Given the description of an element on the screen output the (x, y) to click on. 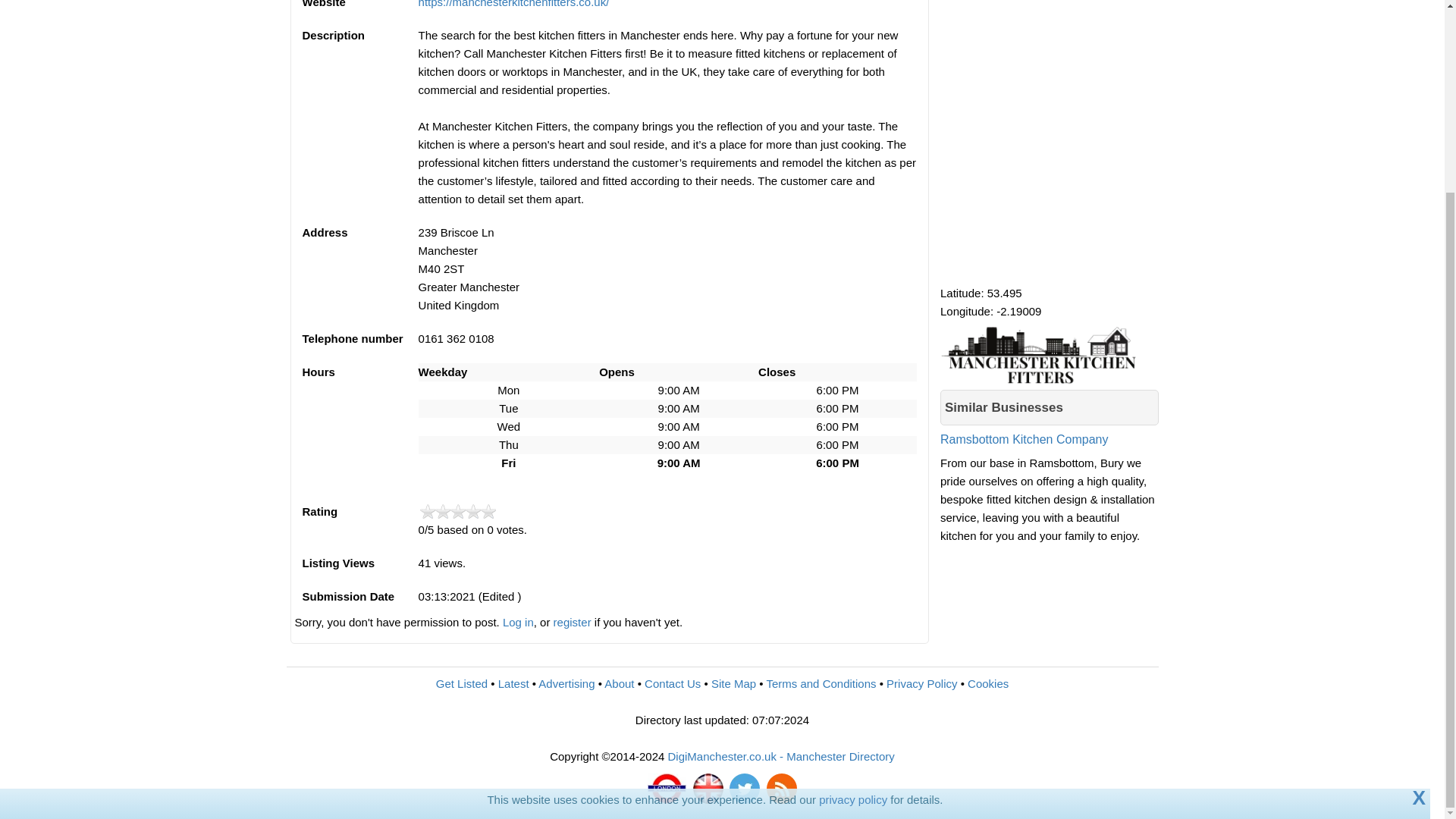
register (572, 621)
Log in (518, 621)
Ramsbottom Kitchen Company (1049, 451)
Terms and Conditions (820, 683)
Latest (513, 683)
Privacy Policy (921, 683)
DigiManchester.co.uk - Manchester Directory (781, 756)
Get Listed (461, 683)
About (618, 683)
Site Map (733, 683)
privacy policy (852, 557)
Contact Us (672, 683)
Manchester Kitchen Fitters Logo (1048, 353)
Advertising (566, 683)
Cookies (988, 683)
